Given the description of an element on the screen output the (x, y) to click on. 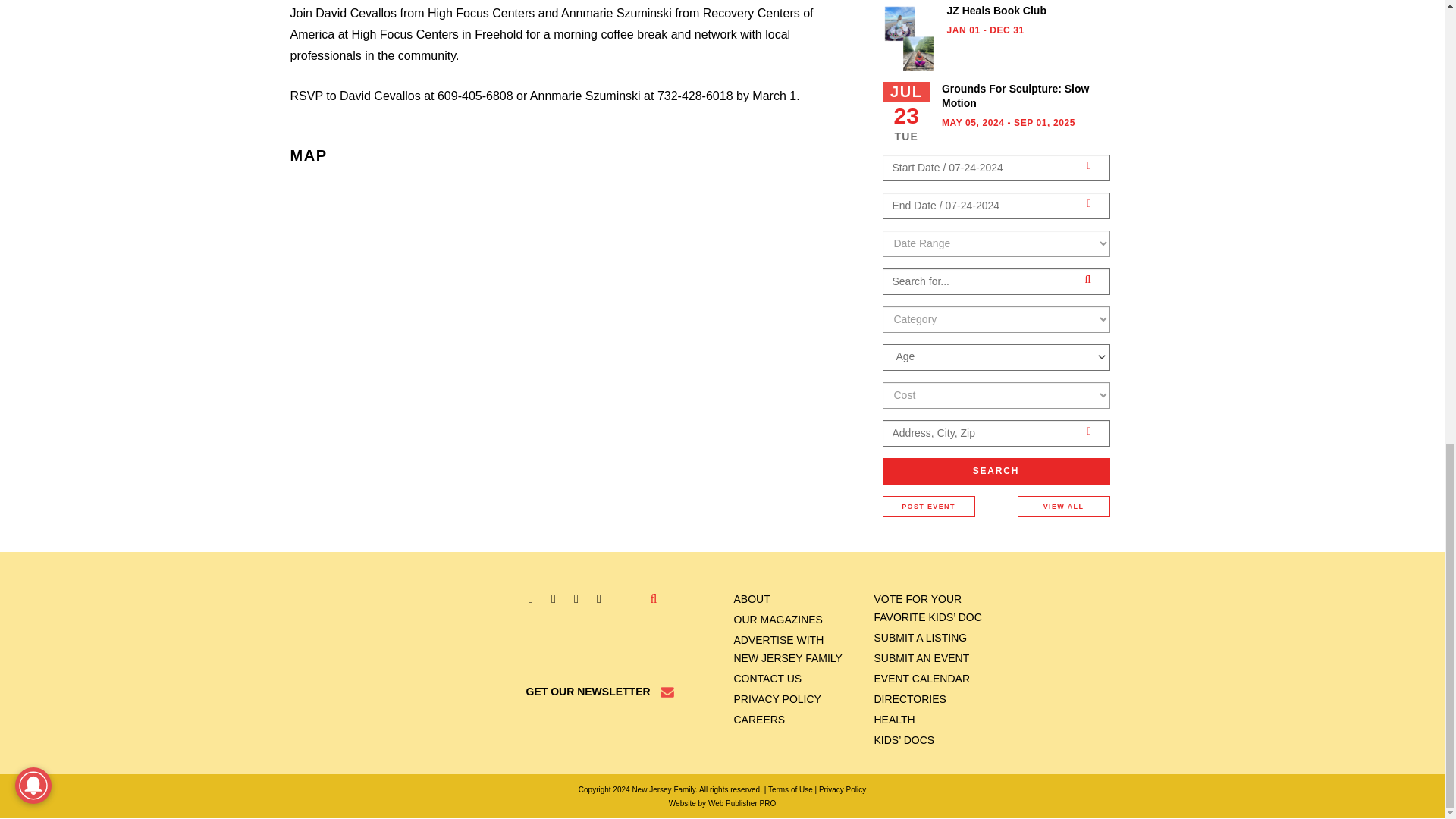
Age (995, 355)
Search (995, 470)
